Given the description of an element on the screen output the (x, y) to click on. 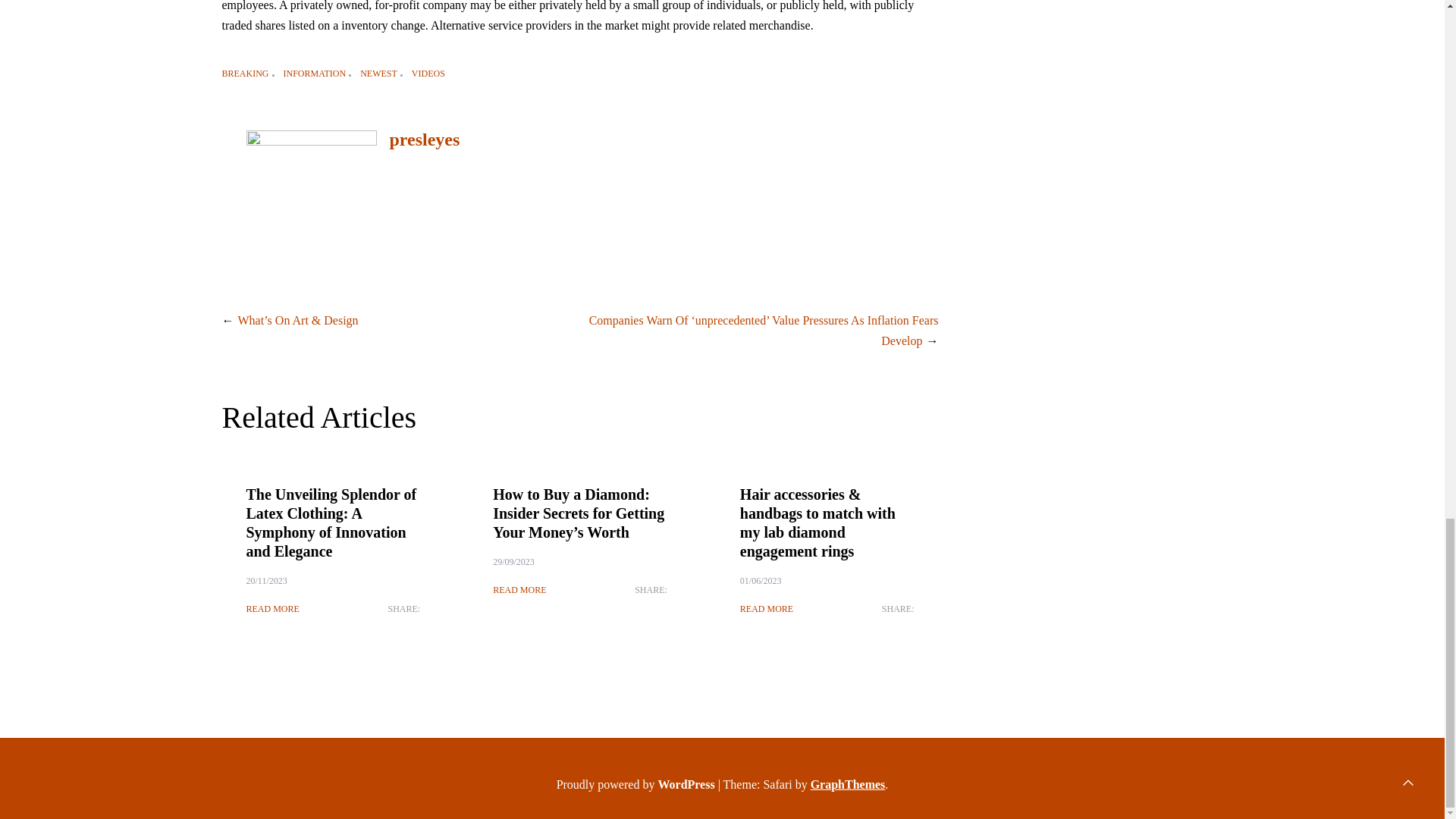
NEWEST (382, 73)
READ MORE (519, 589)
presleyes (424, 139)
VIDEOS (428, 73)
READ MORE (272, 608)
INFORMATION (319, 73)
BREAKING (248, 73)
READ MORE (766, 608)
